Given the description of an element on the screen output the (x, y) to click on. 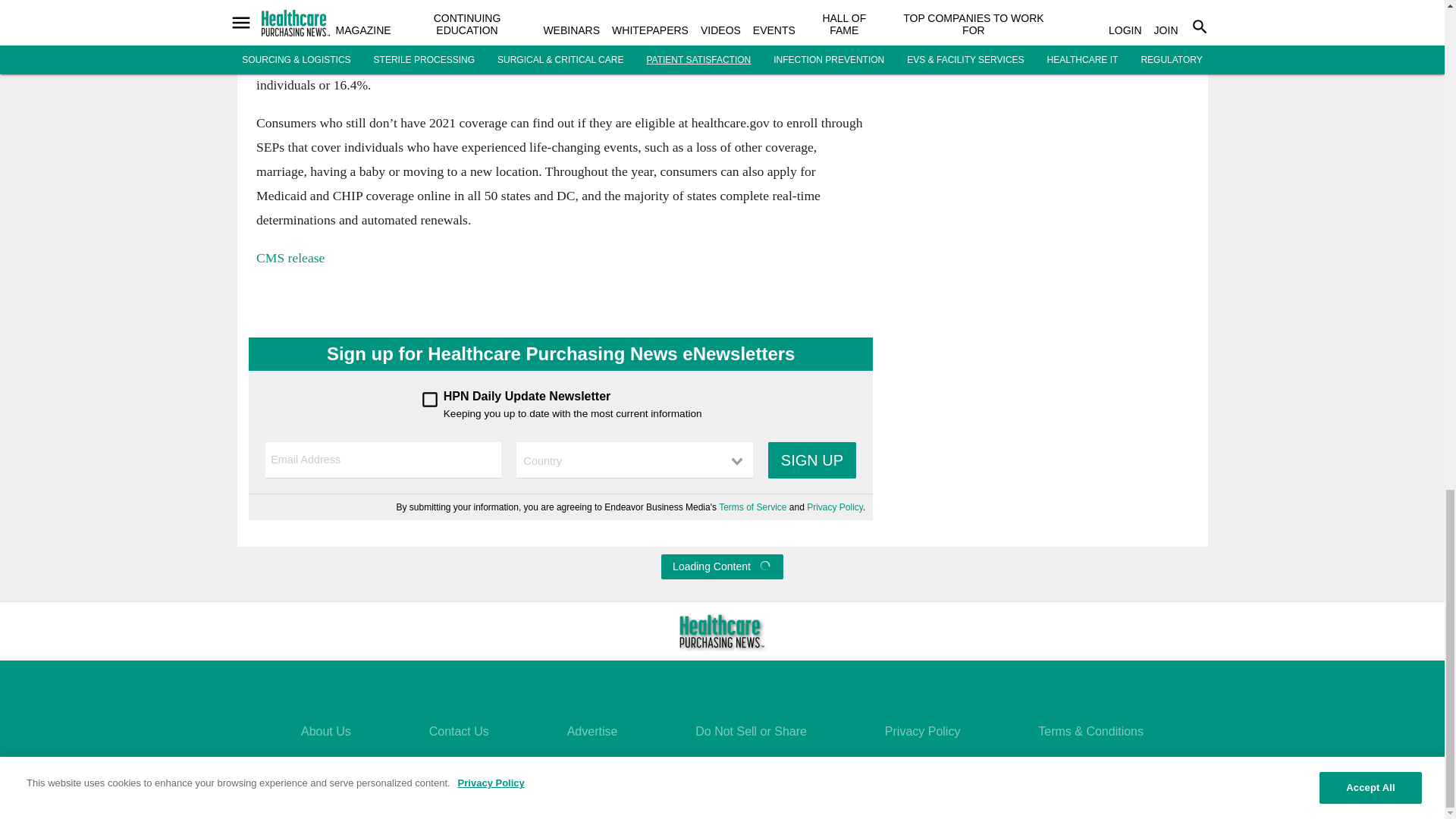
3rd party ad content (1042, 212)
